Given the description of an element on the screen output the (x, y) to click on. 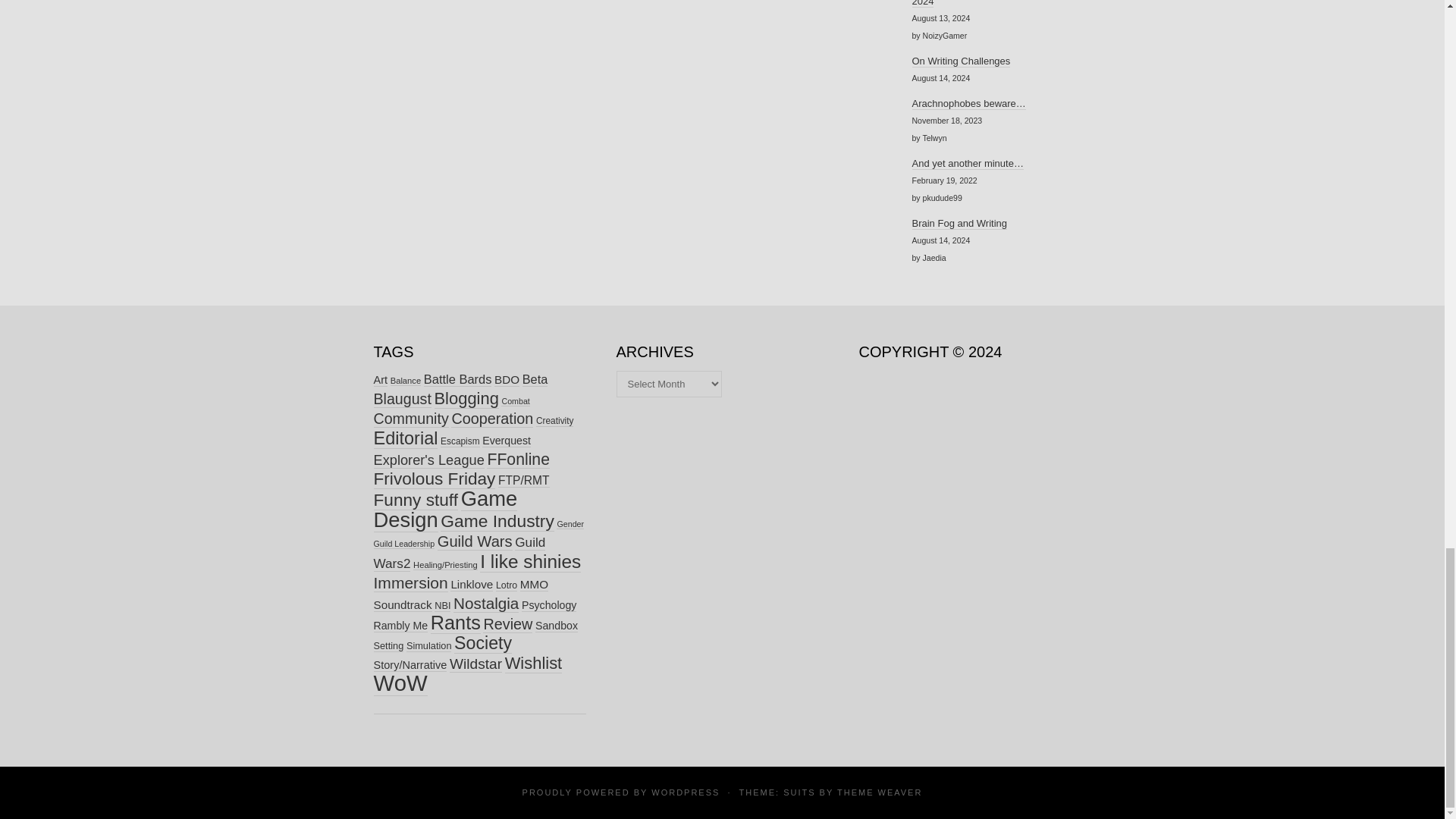
Art (379, 379)
On Writing Challenges (960, 61)
Theme Developer (879, 791)
A Look At The Active ISK Delta In July 2024 (994, 3)
Brain Fog and Writing (959, 223)
Semantic Personal Publishing Platform (684, 791)
